Given the description of an element on the screen output the (x, y) to click on. 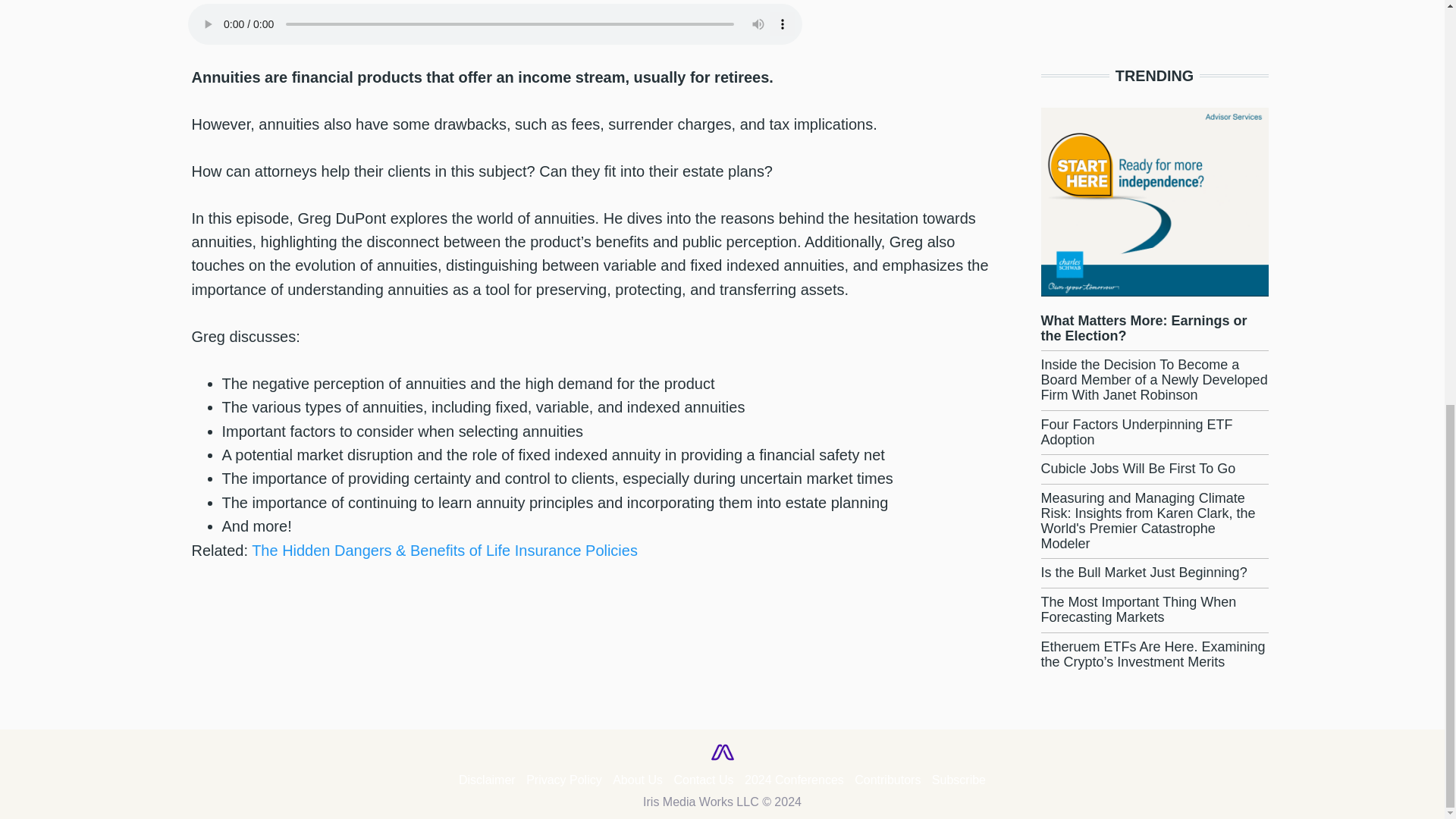
Four Factors Underpinning ETF Adoption (1136, 431)
What Matters More: Earnings or the Election? (1143, 327)
Cubicle Jobs Will Be First To Go (1137, 468)
Home (721, 750)
